Given the description of an element on the screen output the (x, y) to click on. 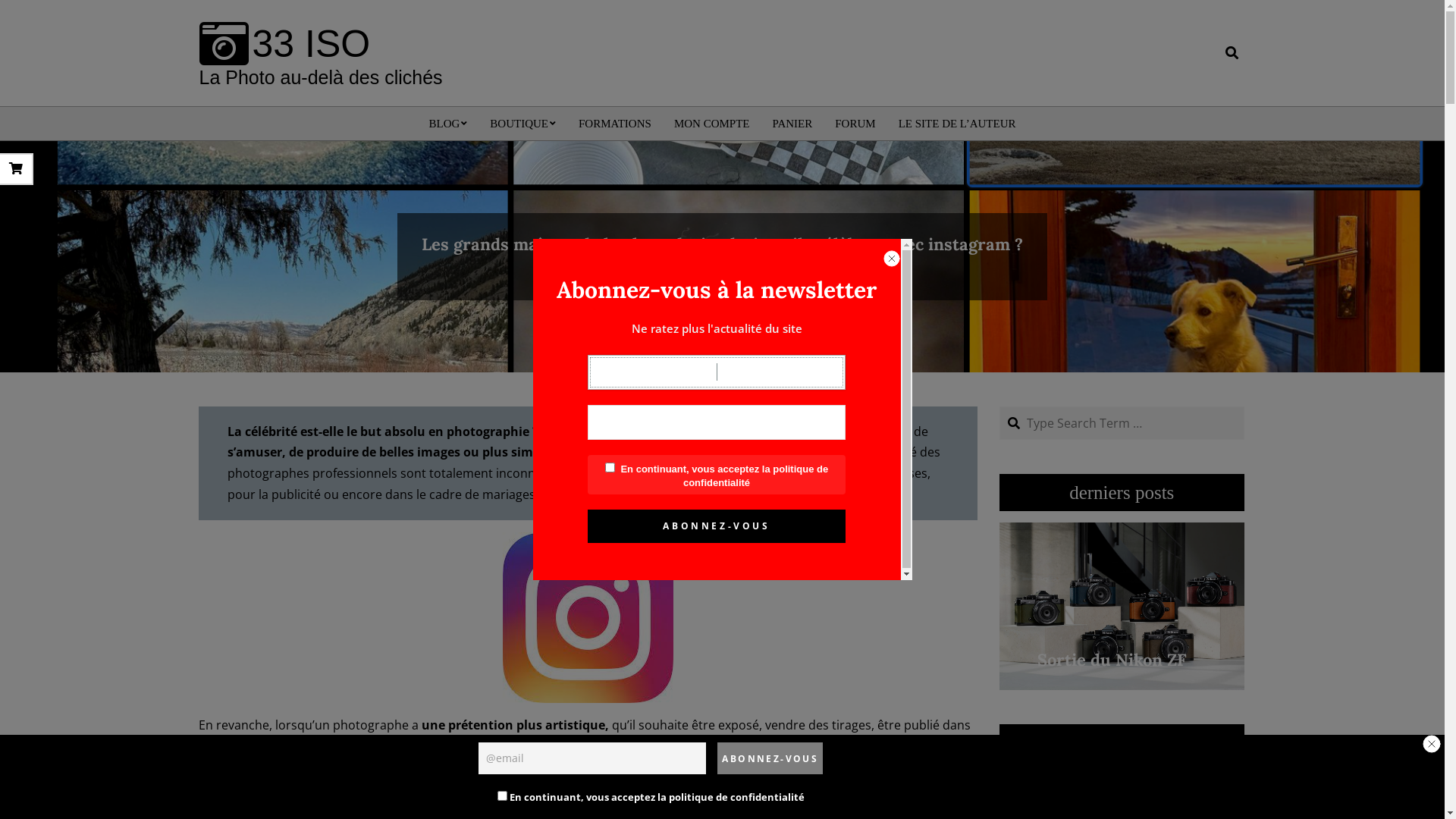
La bonne exposition en photographie Element type: text (1121, 645)
FORUM Element type: text (854, 123)
BOUTIQUE Element type: text (522, 123)
Search Element type: text (20, 8)
FORMATIONS Element type: text (614, 123)
BLOG Element type: text (448, 123)
MON COMPTE Element type: text (711, 123)
33 ISO Element type: text (284, 43)
Abonnez-vous Element type: text (769, 758)
PANIER Element type: text (791, 123)
2 Comments Element type: text (739, 266)
Close Element type: hover (891, 259)
Abonnez-vous Element type: text (716, 525)
